Given the description of an element on the screen output the (x, y) to click on. 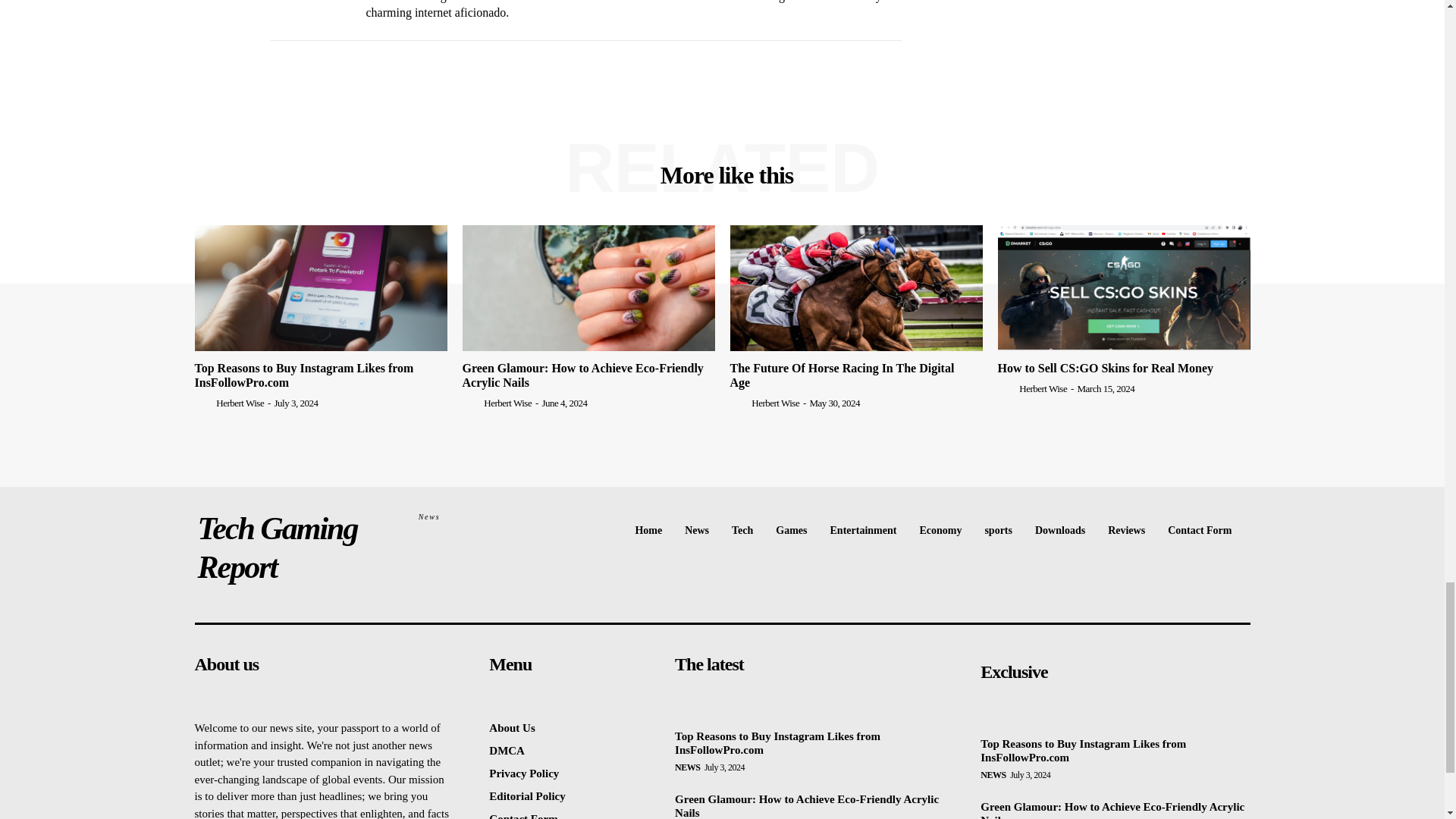
Ebenezer Robbins (305, 12)
